Given the description of an element on the screen output the (x, y) to click on. 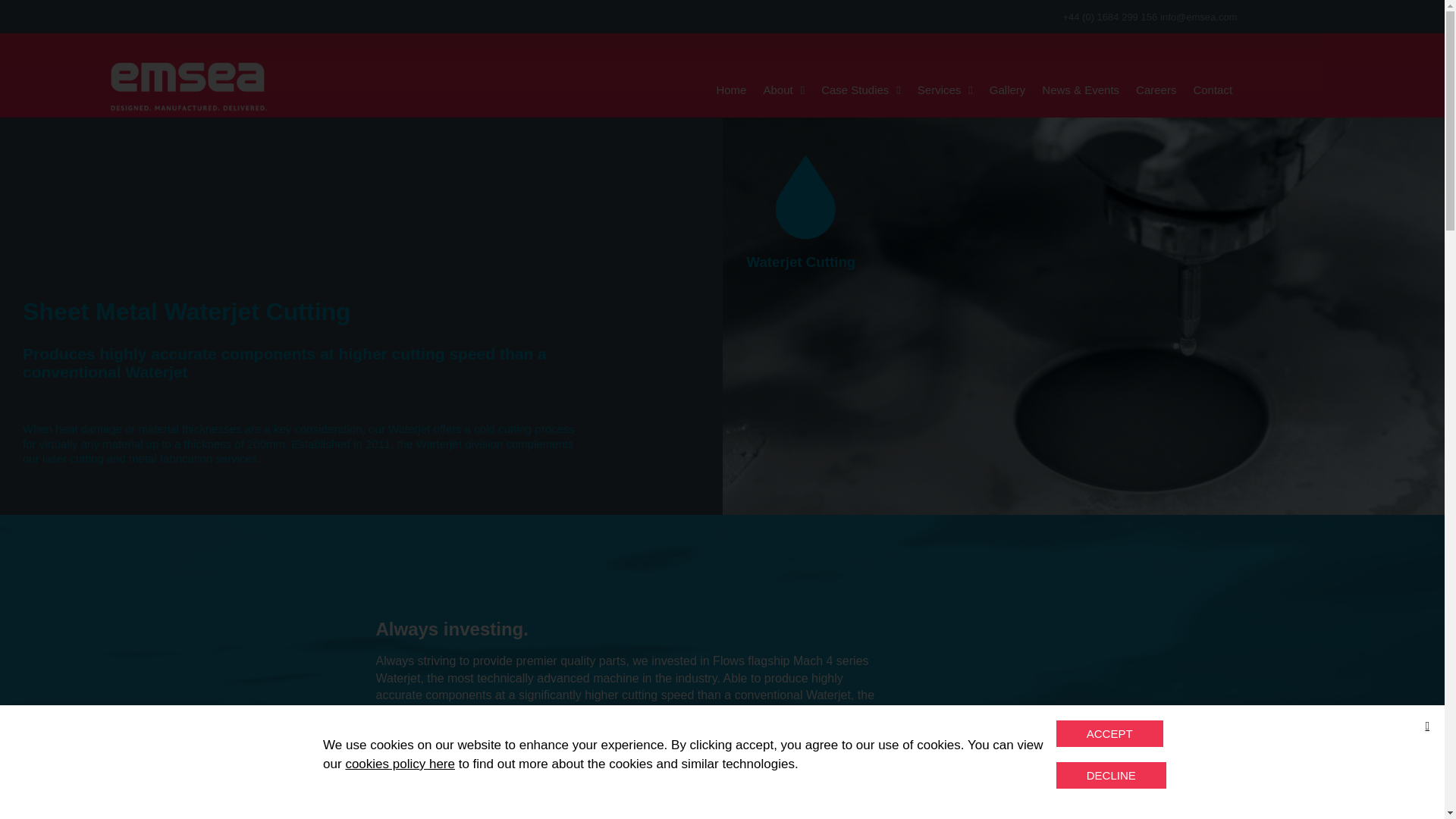
Gallery (1007, 90)
Contact (1212, 90)
Careers (1155, 90)
Services (944, 90)
About (783, 90)
Case Studies (860, 90)
